Given the description of an element on the screen output the (x, y) to click on. 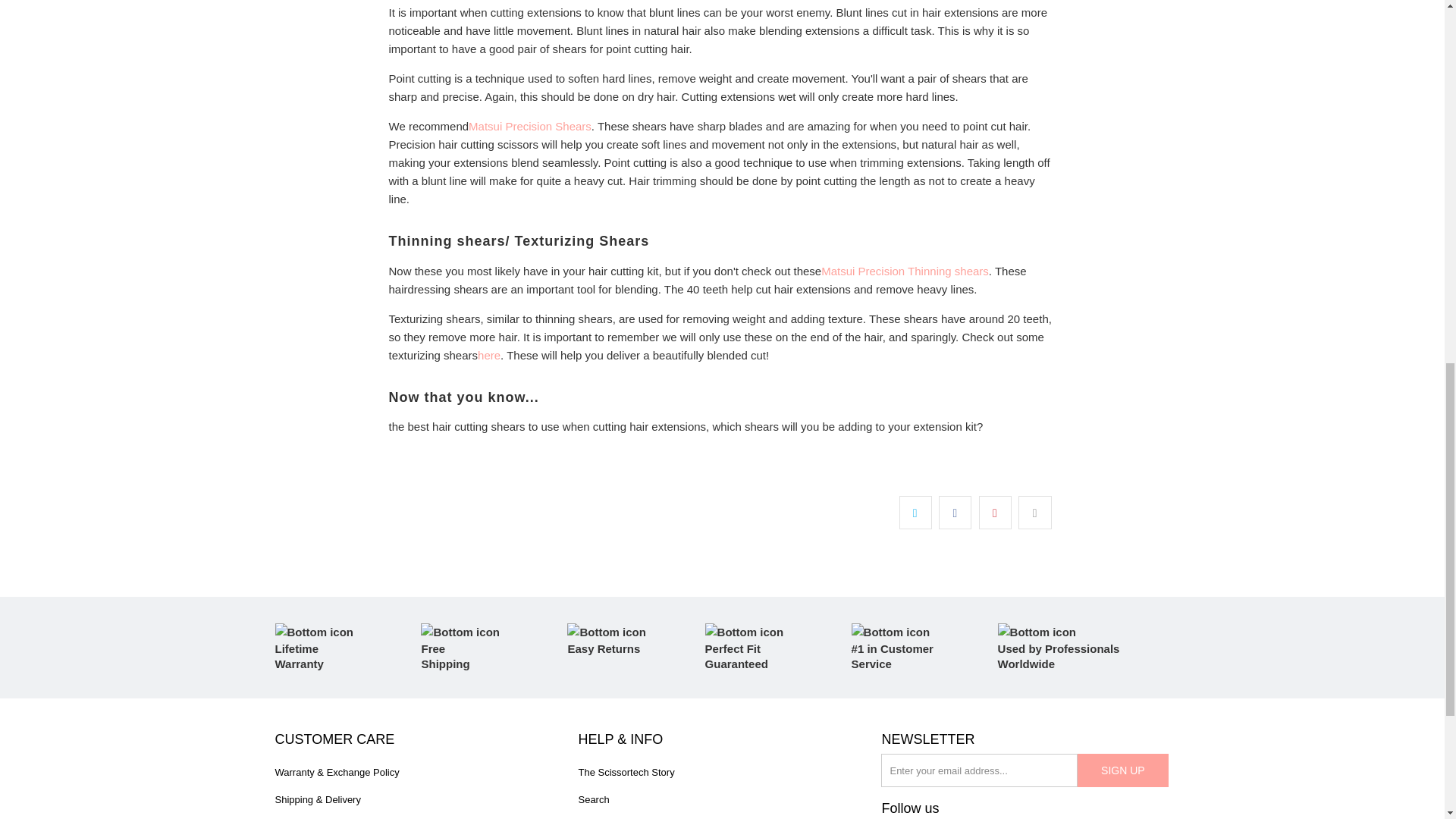
Share this on Facebook (955, 512)
Email this to a friend (1034, 512)
Share this on Twitter (915, 512)
Share this on Pinterest (994, 512)
Sign Up (1123, 770)
